Given the description of an element on the screen output the (x, y) to click on. 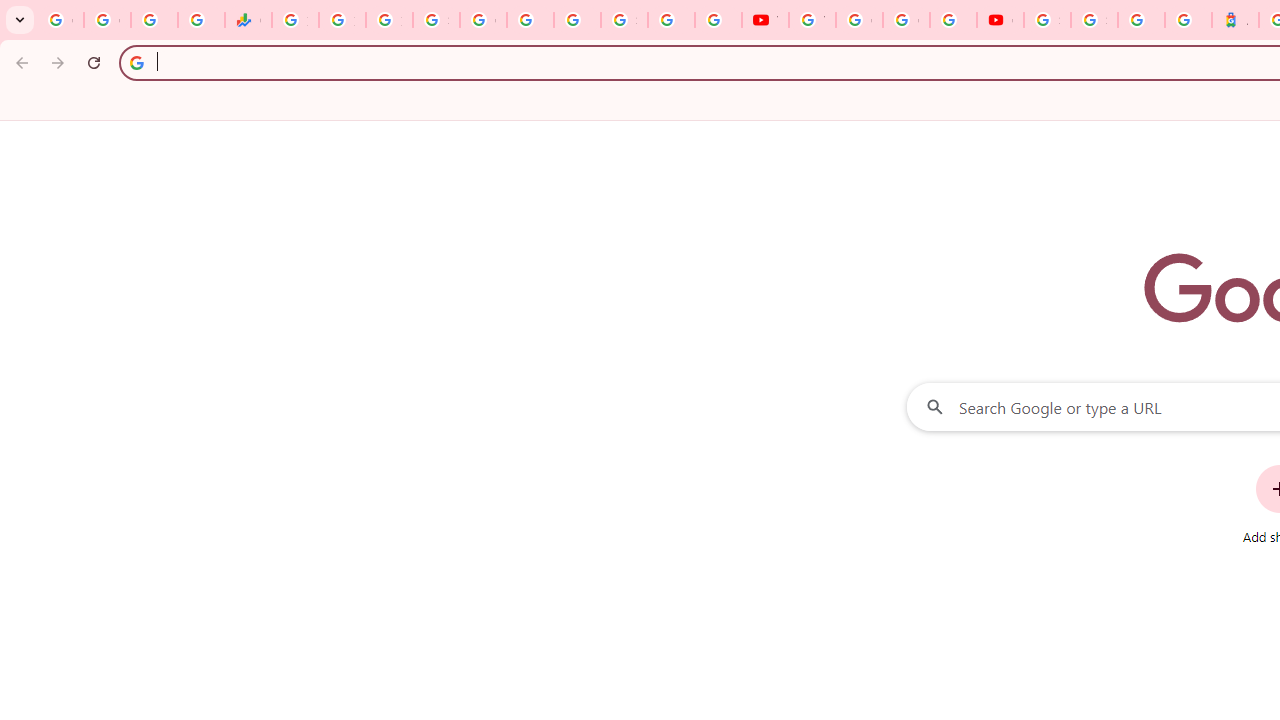
Atour Hotel - Google hotels (1235, 20)
Content Creator Programs & Opportunities - YouTube Creators (999, 20)
Sign in - Google Accounts (1094, 20)
Google Workspace Admin Community (60, 20)
Privacy Checkup (718, 20)
YouTube (765, 20)
YouTube (811, 20)
